Given the description of an element on the screen output the (x, y) to click on. 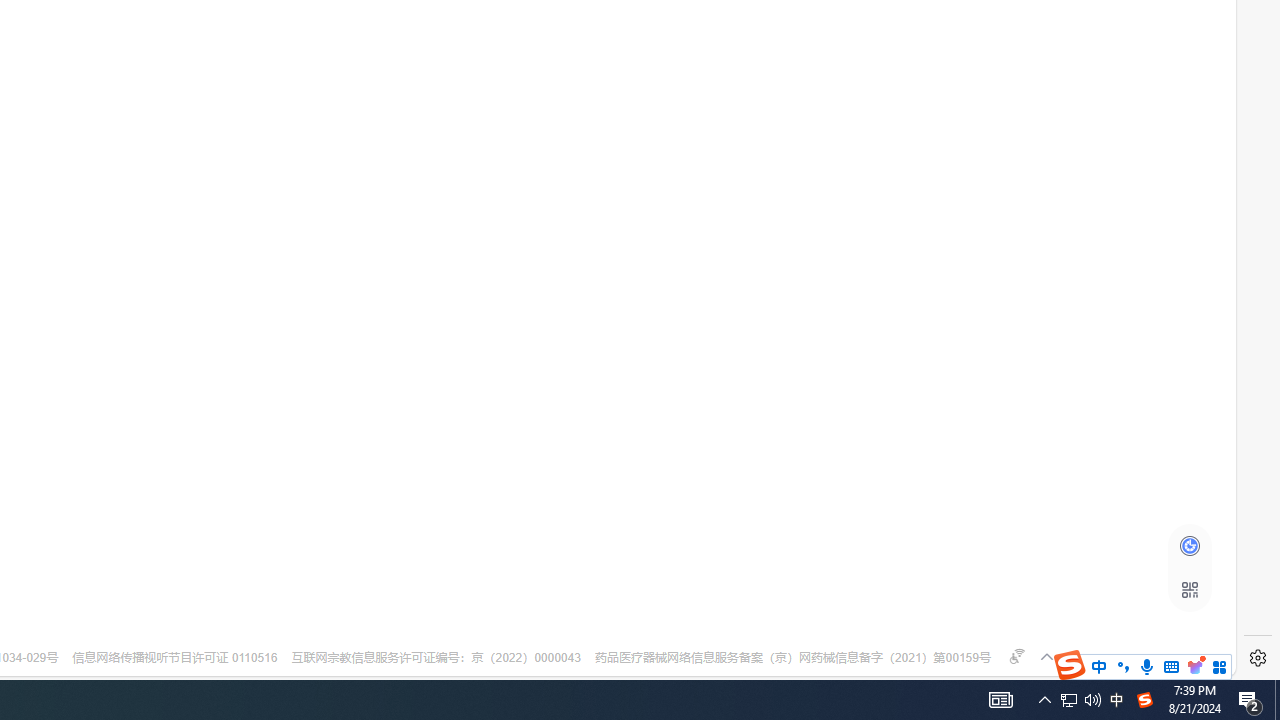
Class: icon (1189, 589)
